Given the description of an element on the screen output the (x, y) to click on. 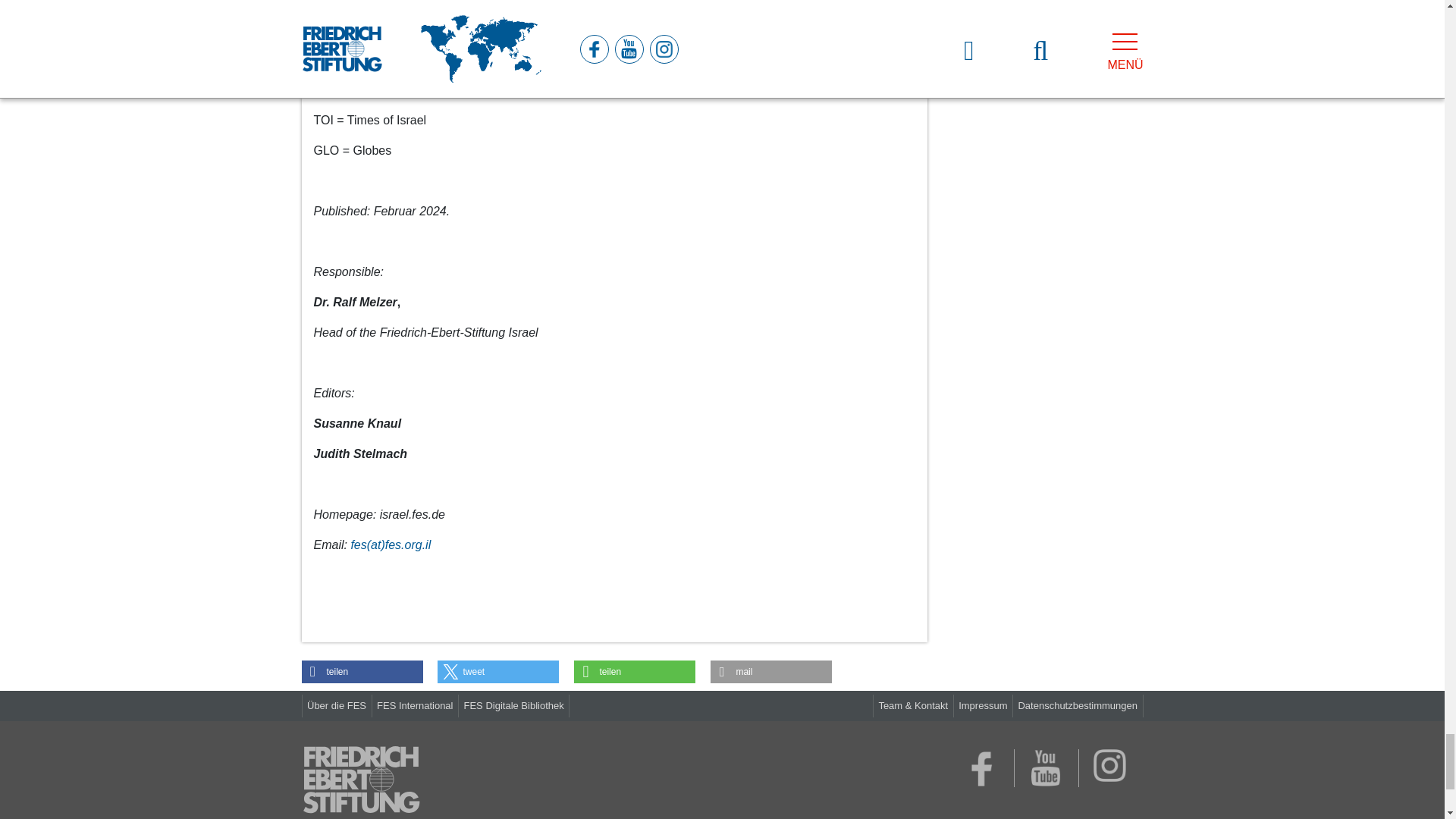
Bei Facebook teilen (362, 671)
Per E-Mail versenden (770, 671)
Bei Whatsapp teilen (634, 671)
Bei Twitter teilen (498, 671)
